Given the description of an element on the screen output the (x, y) to click on. 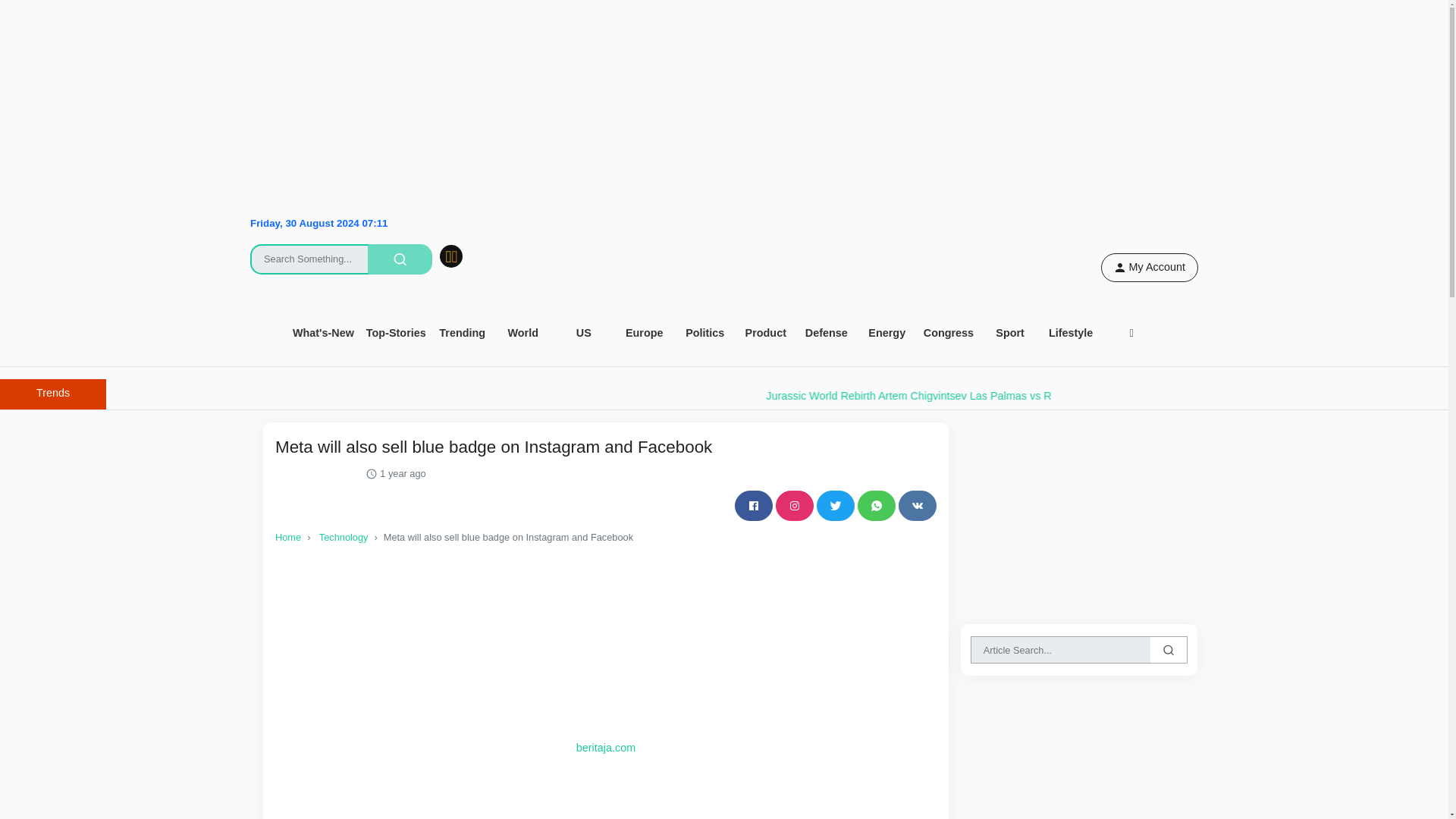
Form (360, 248)
English Beritaja News (717, 297)
Energy (887, 333)
US (583, 333)
Open (462, 333)
Top-Stories (395, 333)
Open (644, 333)
Open (322, 333)
My Account (1149, 267)
